Given the description of an element on the screen output the (x, y) to click on. 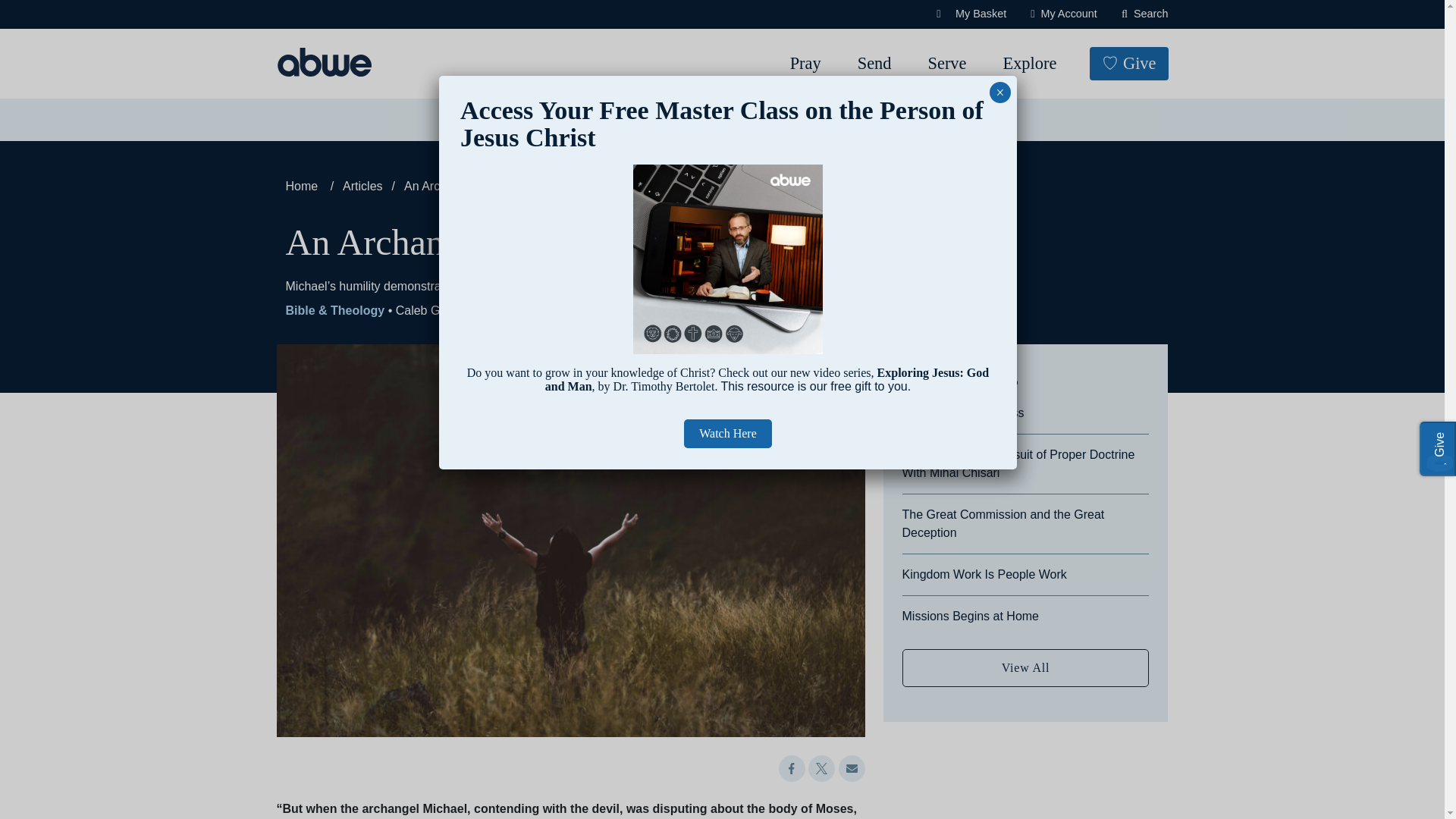
Pray (805, 63)
Articles (567, 119)
Serve (946, 63)
Explore (1028, 63)
Send (874, 63)
My Account (1063, 14)
Search (1145, 14)
Message Magazine (682, 119)
Search (64, 18)
Articles (567, 119)
Message Magazine (682, 119)
My Basket (971, 14)
Topics (487, 119)
Topics (487, 119)
